Given the description of an element on the screen output the (x, y) to click on. 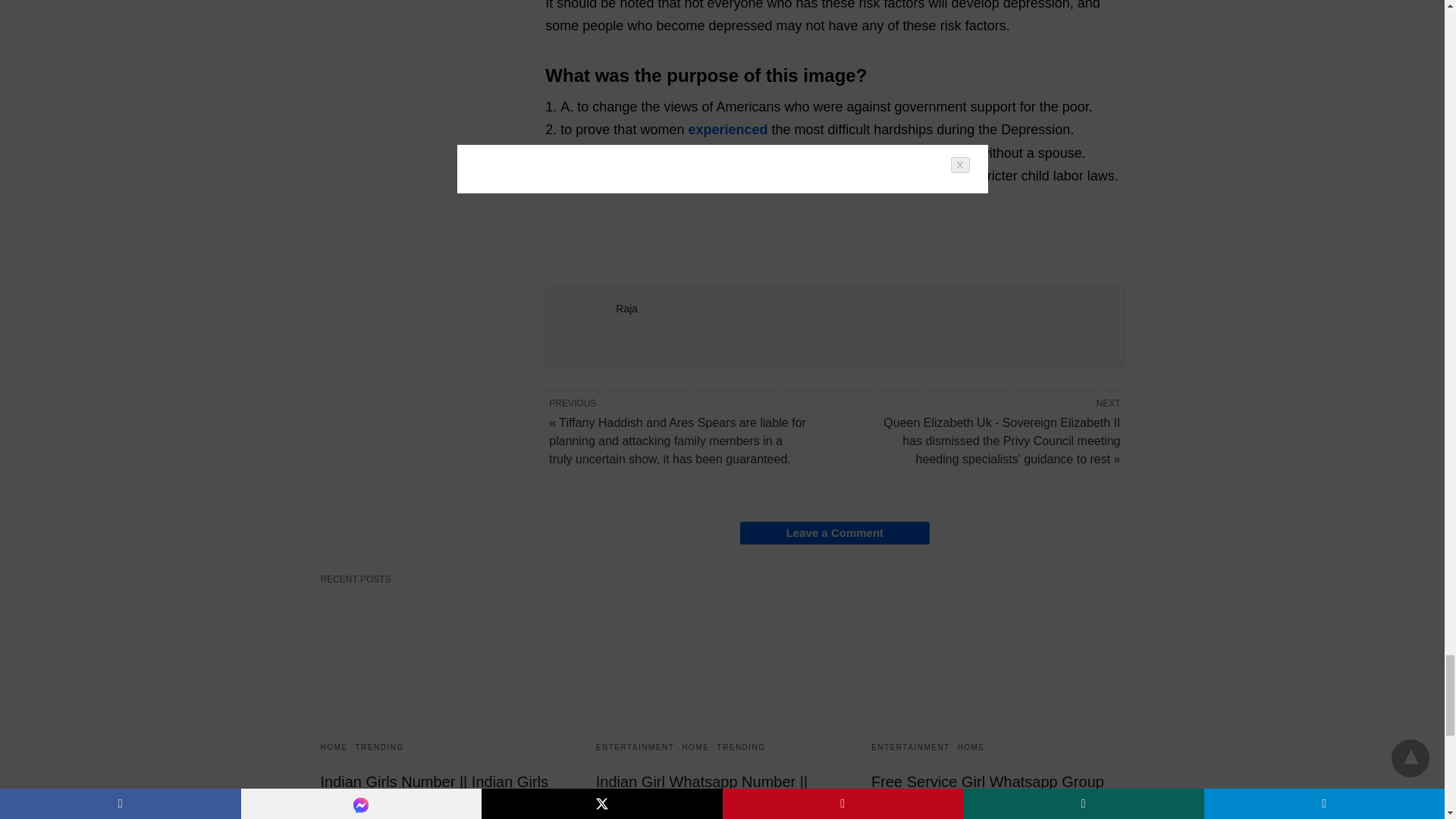
Leave a Comment (834, 532)
Raja (626, 308)
